Given the description of an element on the screen output the (x, y) to click on. 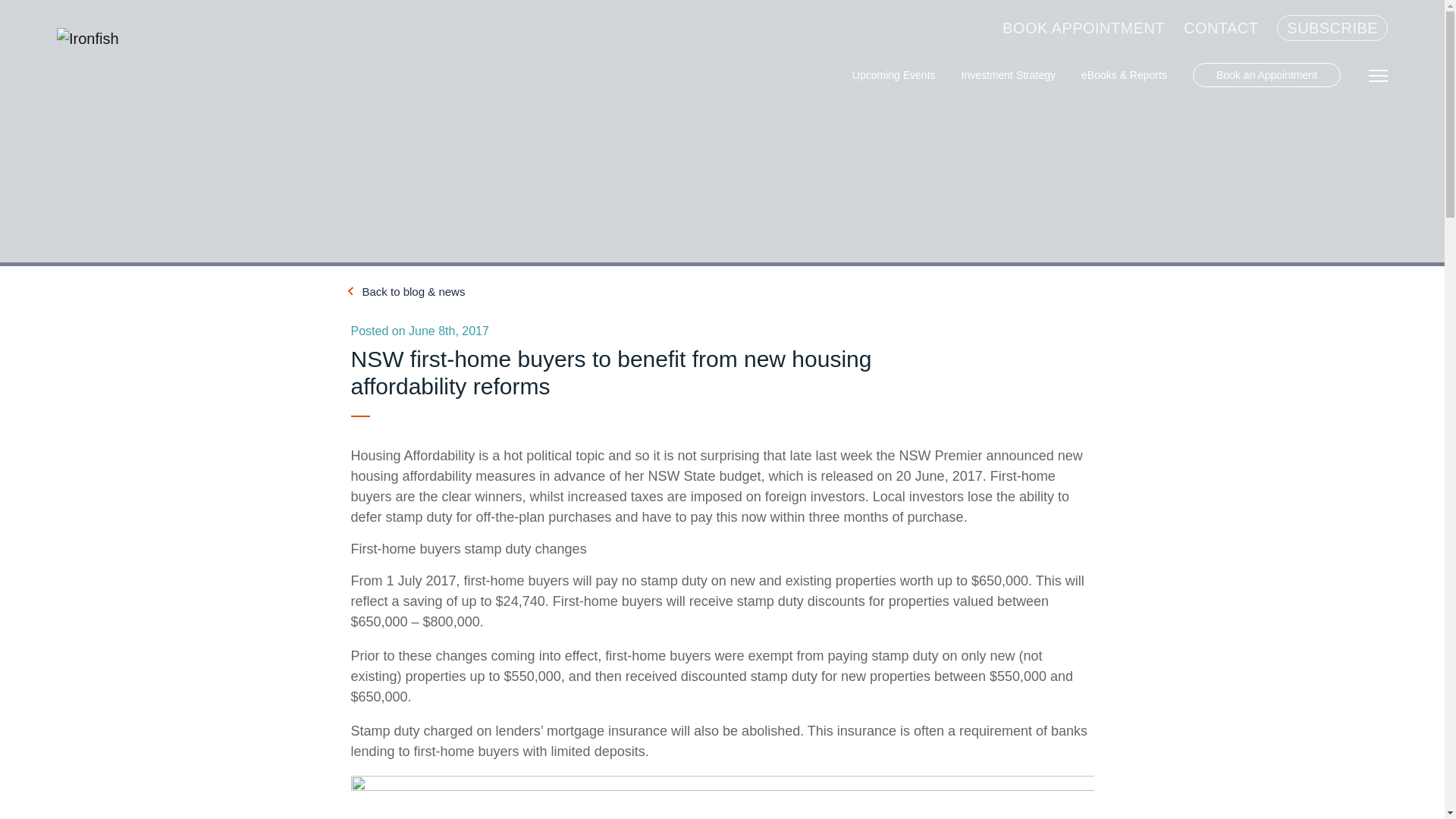
Back to blog & news Element type: text (407, 291)
Investment Strategy Element type: text (1008, 75)
eBooks & Reports Element type: text (1124, 75)
Upcoming Events Element type: text (893, 75)
SUBSCRIBE Element type: text (1332, 27)
BOOK APPOINTMENT Element type: text (1083, 27)
CONTACT Element type: text (1220, 27)
Book an Appointment Element type: text (1266, 74)
